Given the description of an element on the screen output the (x, y) to click on. 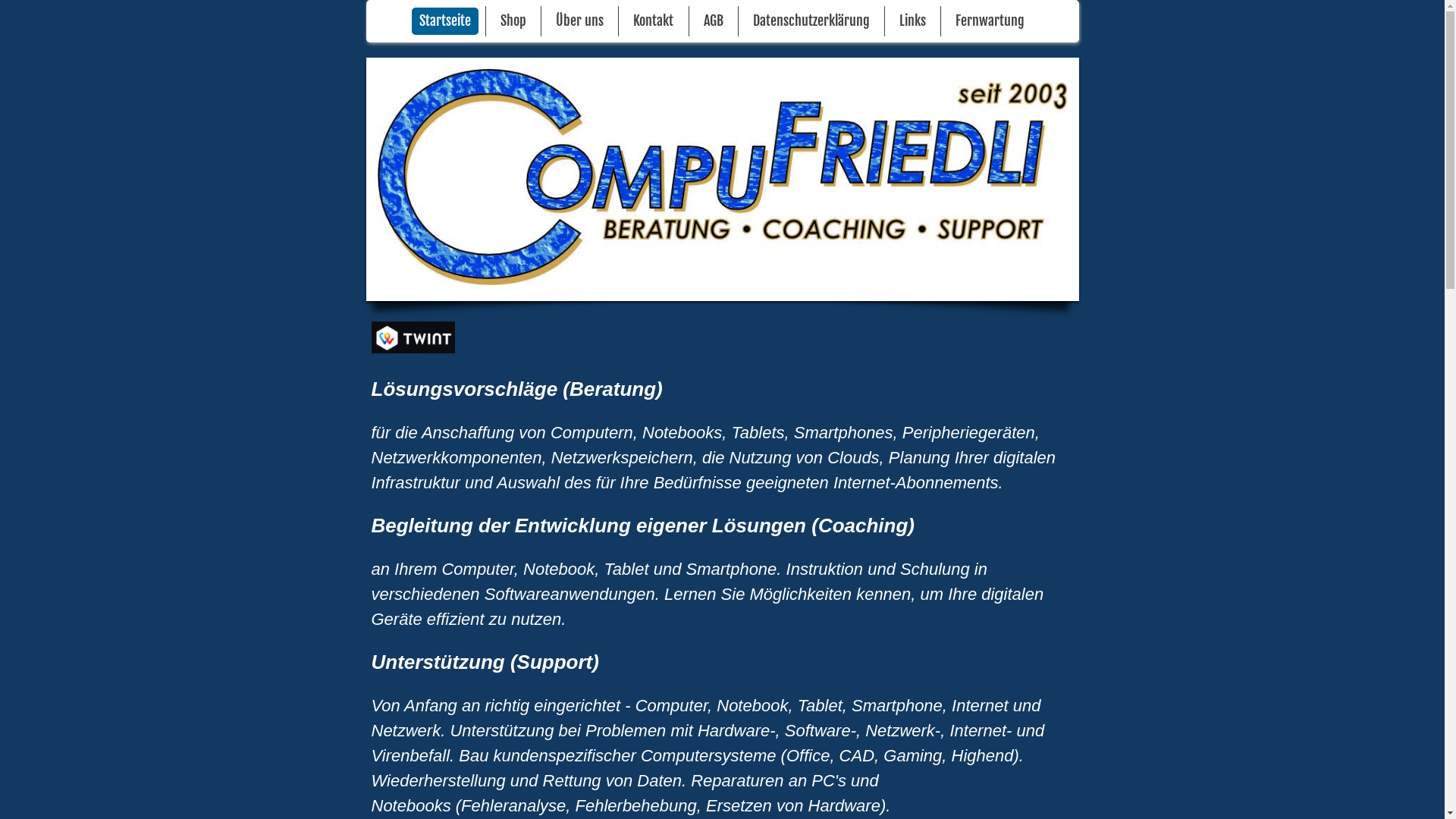
Fernwartung Element type: text (989, 20)
Shop Element type: text (512, 20)
Kontakt Element type: text (652, 20)
Links Element type: text (912, 20)
Startseite Element type: text (444, 20)
AGB Element type: text (713, 20)
